Given the description of an element on the screen output the (x, y) to click on. 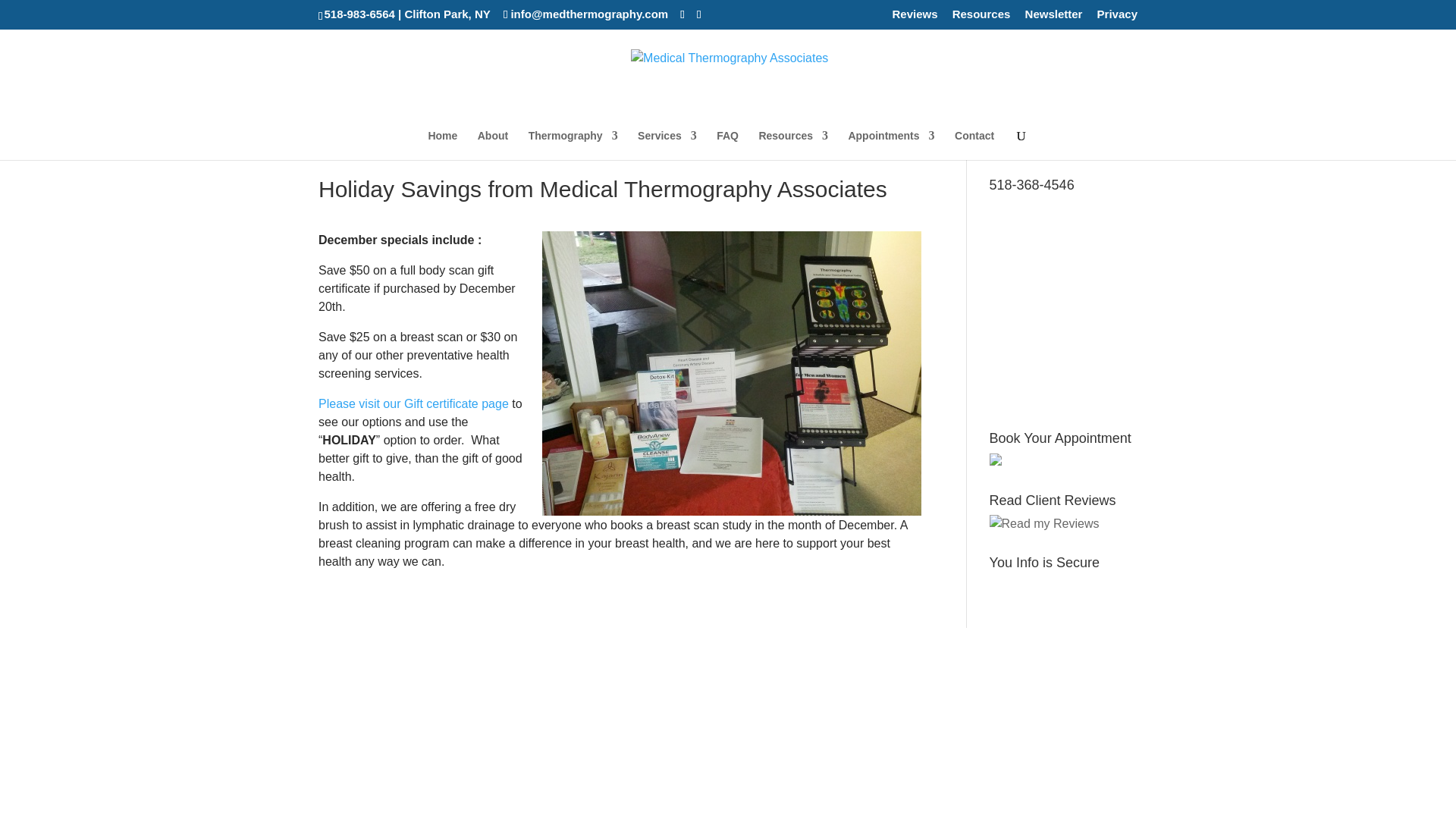
Newsletter (1054, 17)
Thermography (572, 144)
Reviews (914, 17)
Home (442, 144)
Resources (793, 144)
About (492, 144)
Services (667, 144)
Appointments (890, 144)
Resources (981, 17)
Privacy (1117, 17)
